Given the description of an element on the screen output the (x, y) to click on. 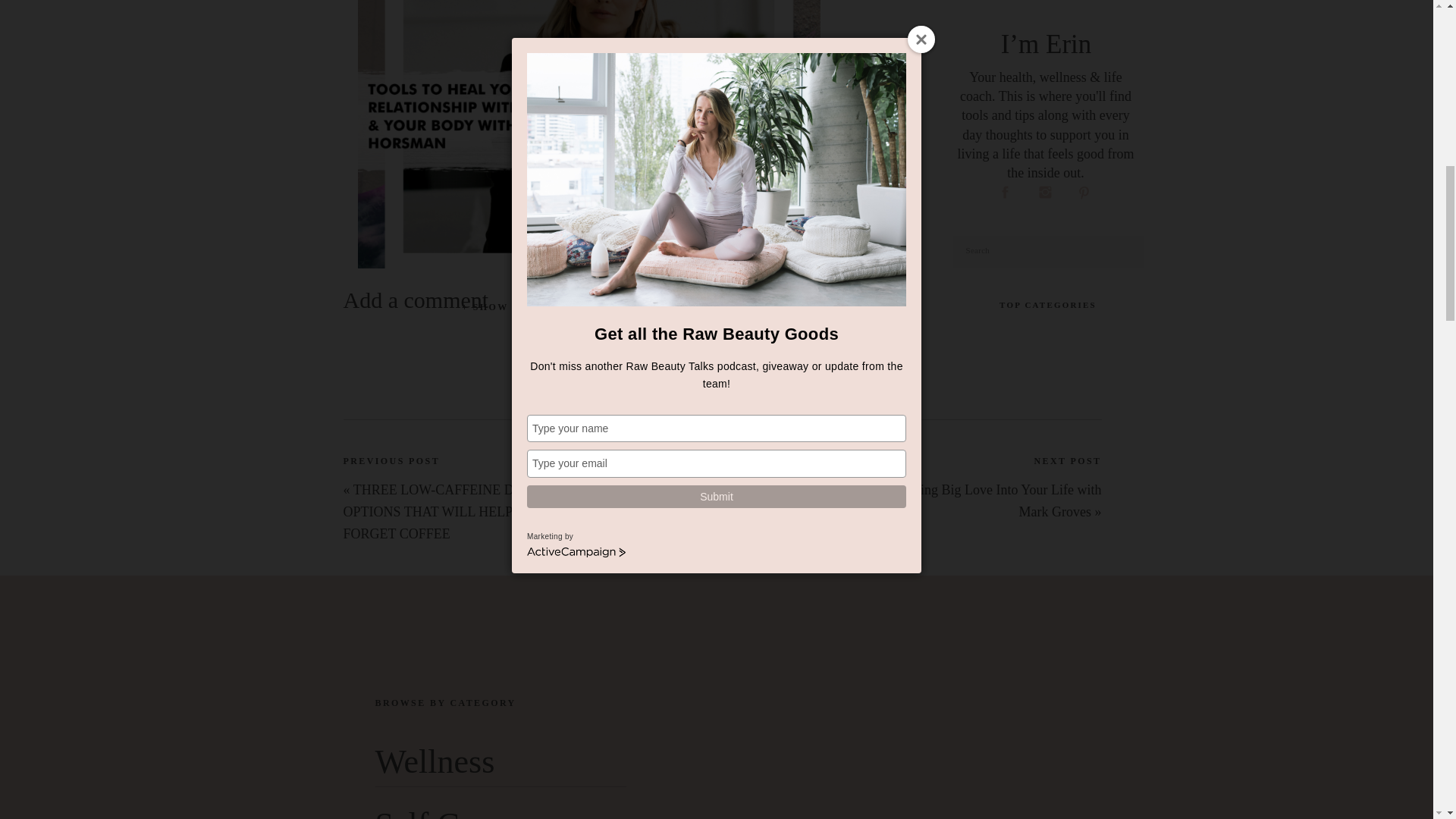
RAW BEAUTY CO SHOP (555, 581)
Level up, level up, level up. (1049, 604)
 Wellness (1048, 569)
